Given the description of an element on the screen output the (x, y) to click on. 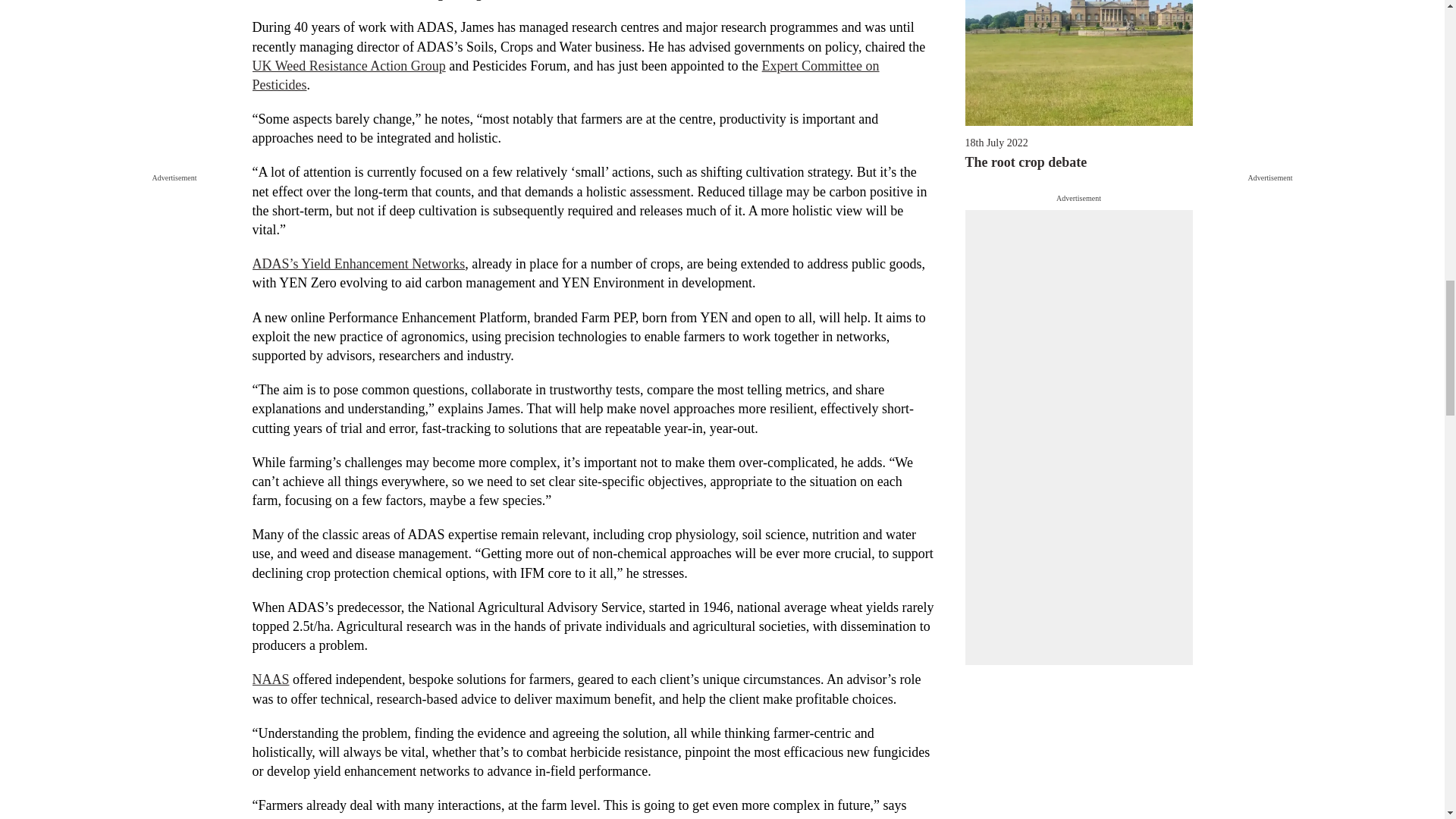
Expert Committee on Pesticides (565, 75)
UK Weed Resistance Action Group (348, 65)
NAAS (269, 679)
